Given the description of an element on the screen output the (x, y) to click on. 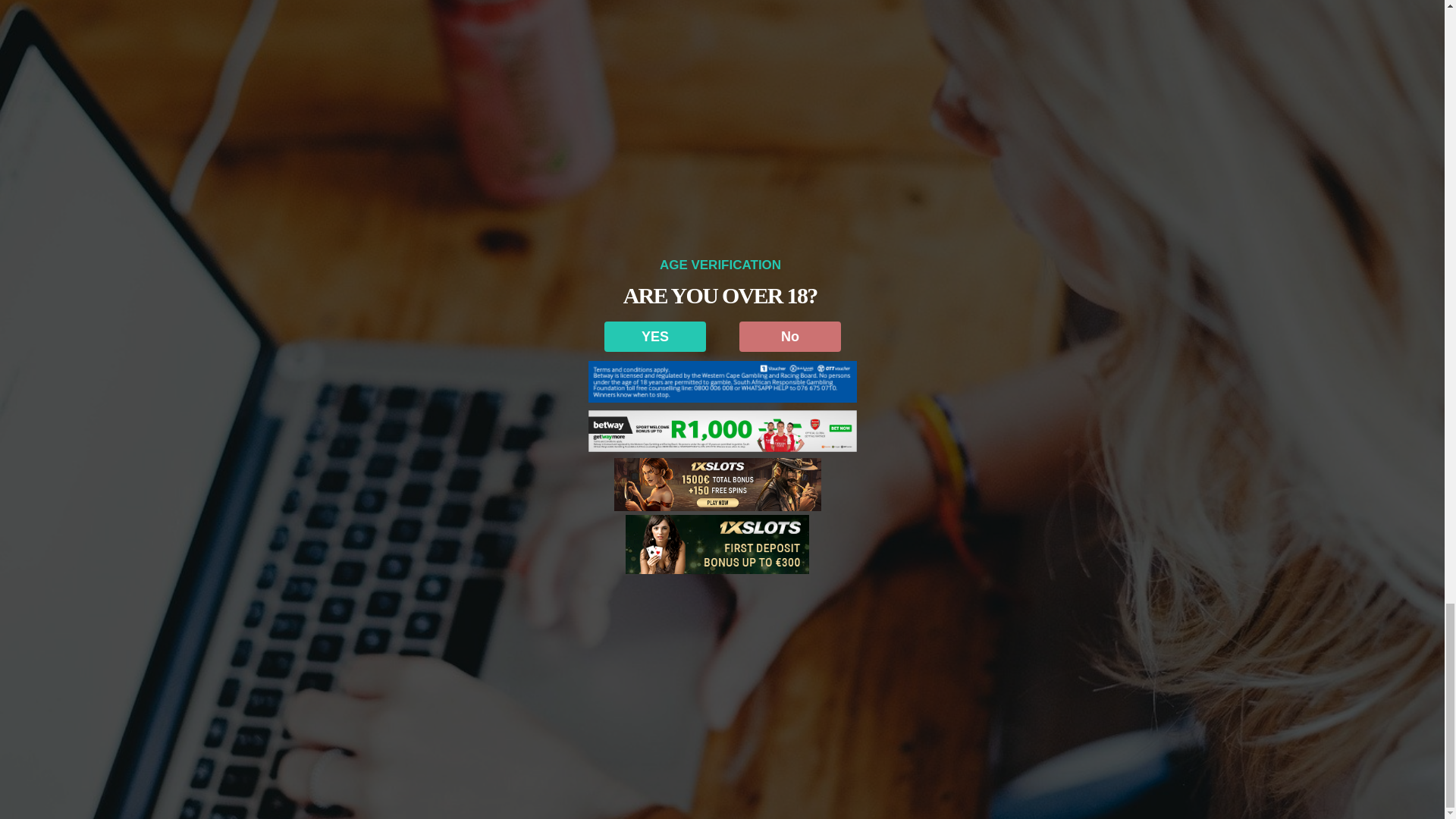
Forecast 02 August 2021: Japan v Nigeria (715, 279)
2020 Olympics: Blessing Oborududu takes silver (309, 330)
Kenya (322, 14)
Volleyball (364, 14)
Japan (290, 14)
